Given the description of an element on the screen output the (x, y) to click on. 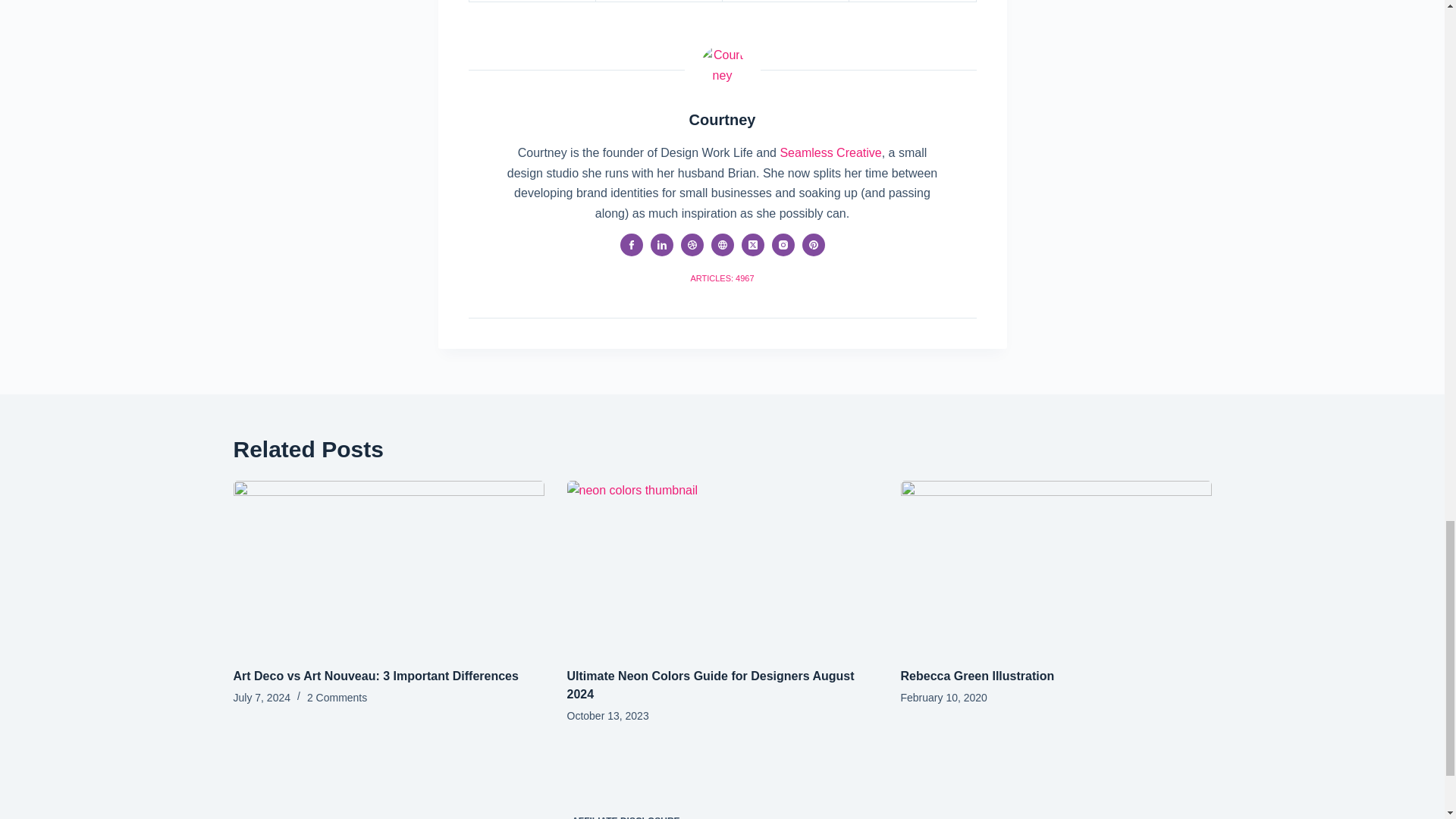
Seamless Creative (829, 152)
Art Deco vs Art Nouveau: 3 Important Differences (375, 675)
ARTICLES: 4967 (722, 278)
